Given the description of an element on the screen output the (x, y) to click on. 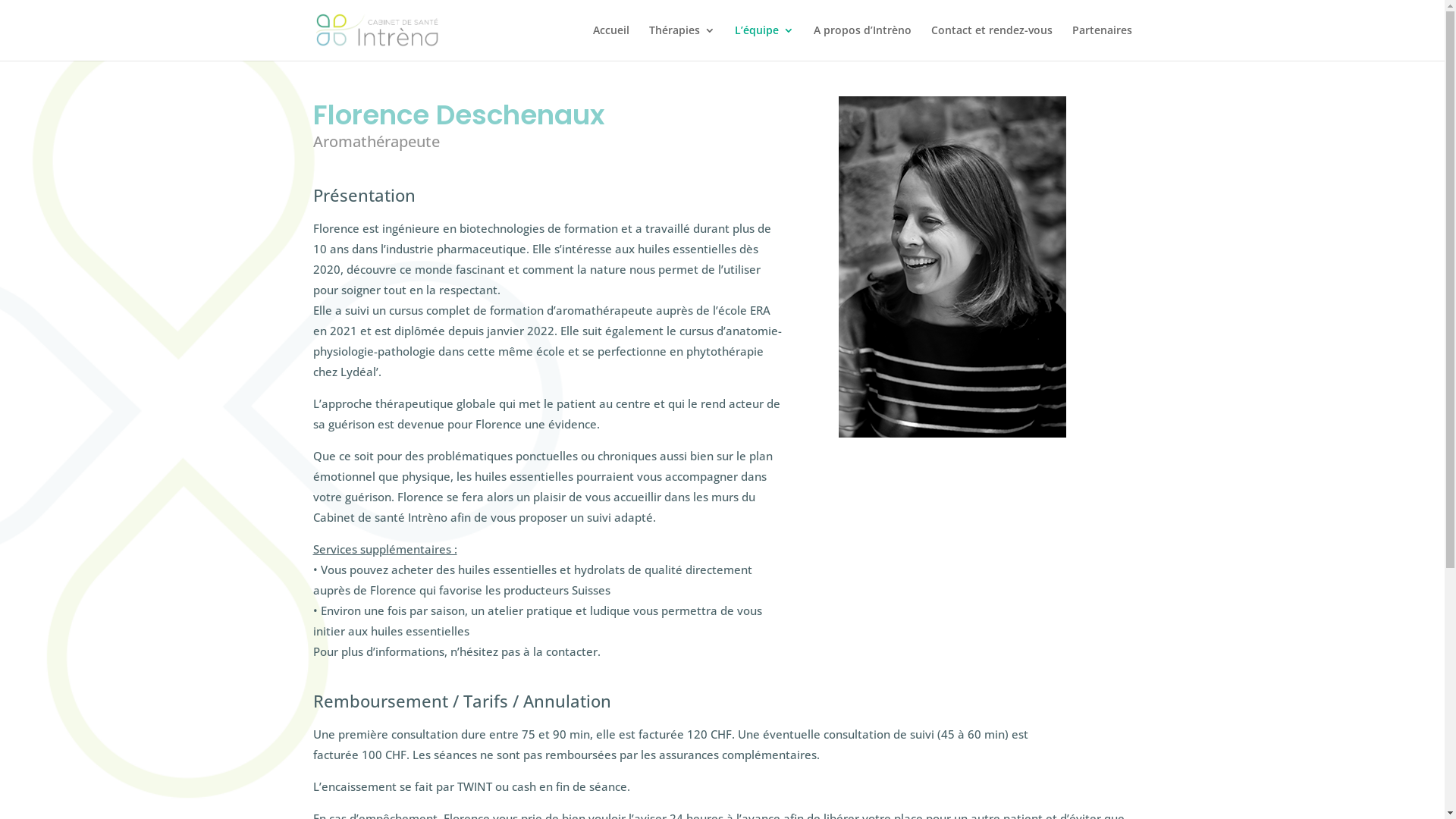
Accueil Element type: text (611, 42)
Partenaires Element type: text (1102, 42)
Contact et rendez-vous Element type: text (991, 42)
